Given the description of an element on the screen output the (x, y) to click on. 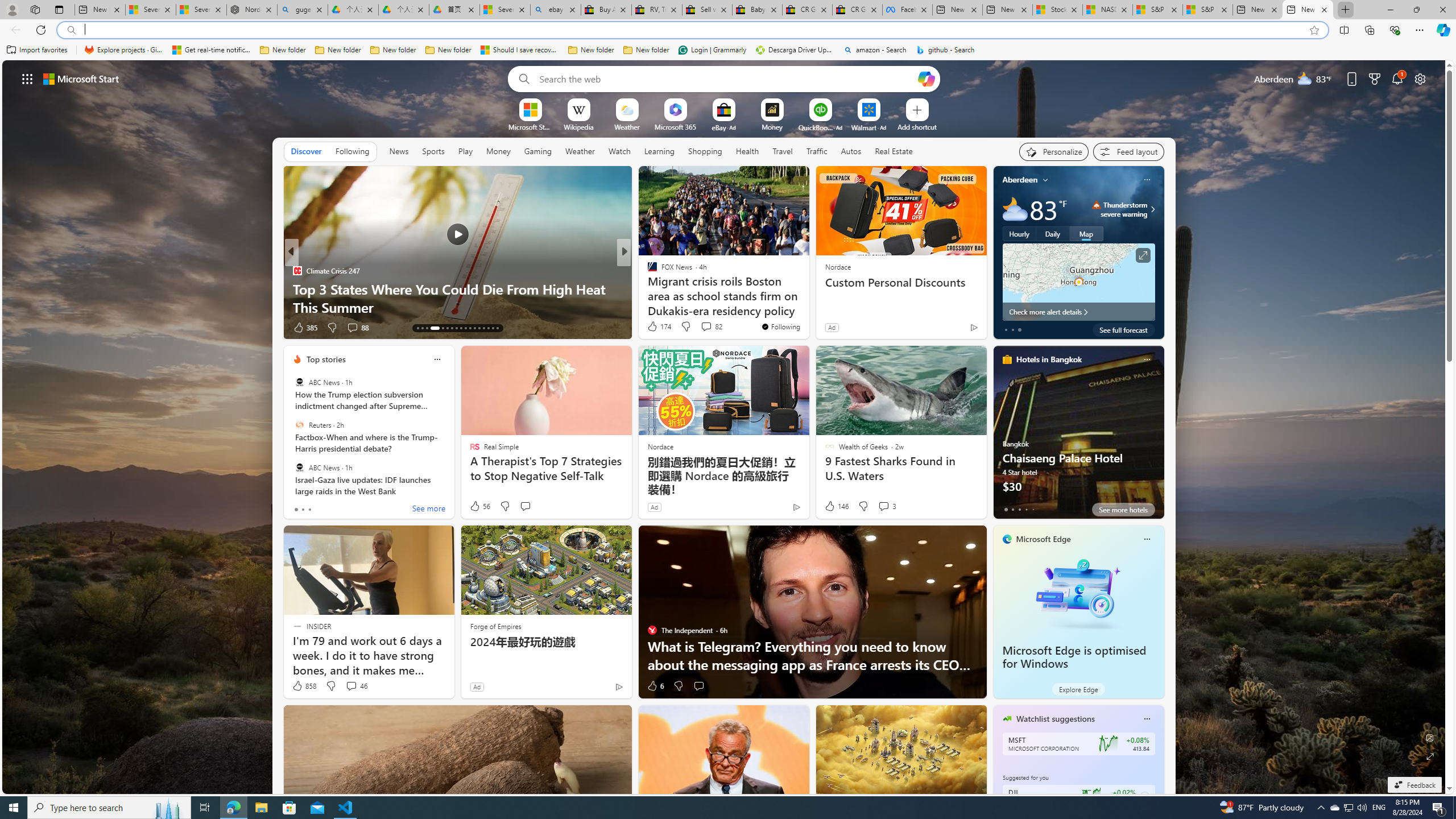
385 Like (304, 327)
Microsoft Edge is optimised for Windows (1074, 657)
The Atlantic (647, 288)
ABC News (299, 466)
New folder (646, 49)
Weather (580, 151)
View comments 7 Comment (705, 327)
Click to see more information (1142, 255)
CNN (647, 270)
Thunderstorm - Severe (1097, 204)
